Given the description of an element on the screen output the (x, y) to click on. 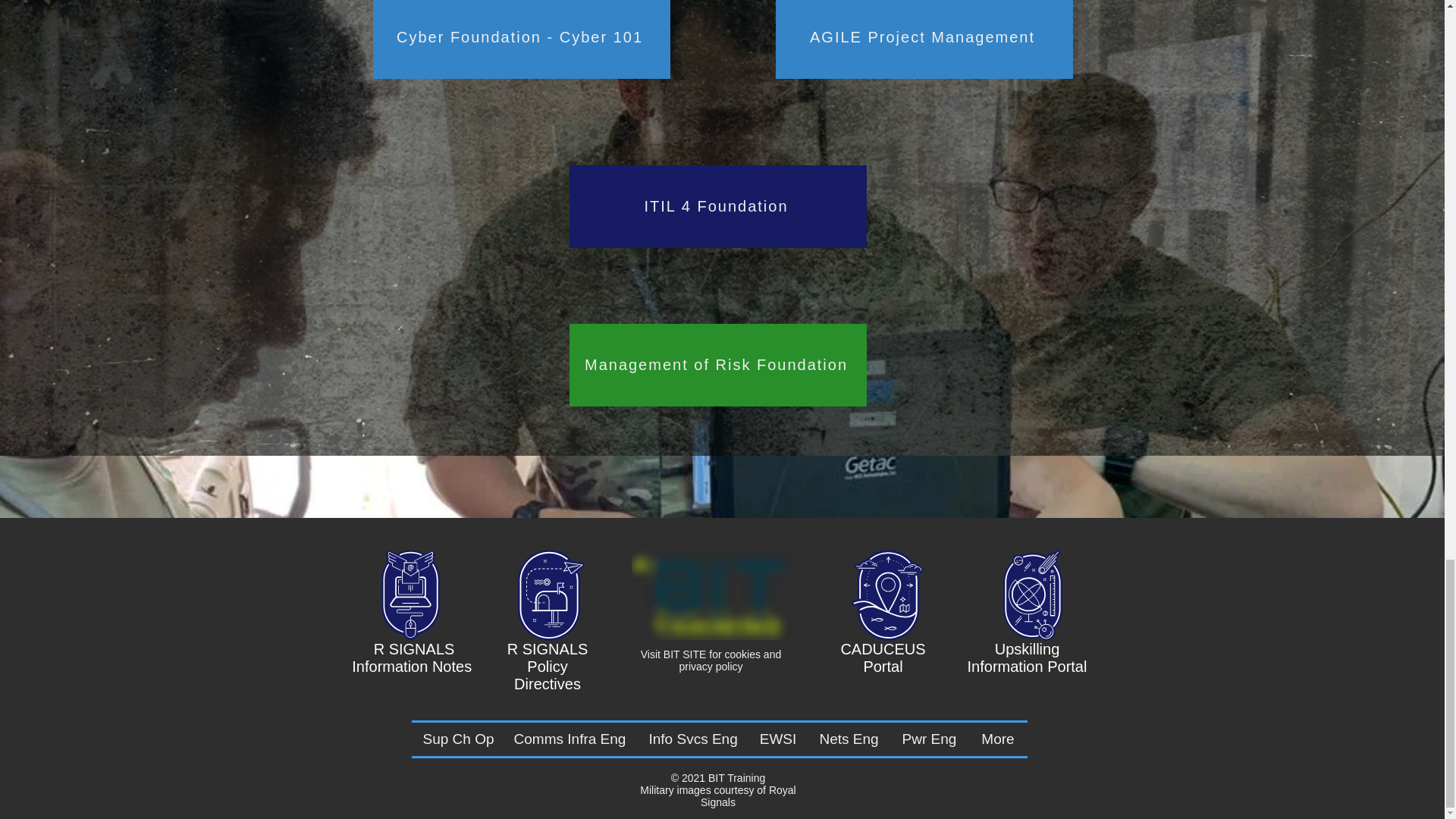
EWSI (778, 738)
AGILE Project Management (922, 39)
Management of Risk Foundation (717, 364)
Info Svcs Eng (692, 738)
Comms Infra Eng (569, 738)
ITIL 4 Foundation (717, 206)
Cyber Foundation - Cyber 101 (520, 39)
Pwr Eng (929, 738)
Sup Ch Op (456, 738)
Nets Eng (848, 738)
